Given the description of an element on the screen output the (x, y) to click on. 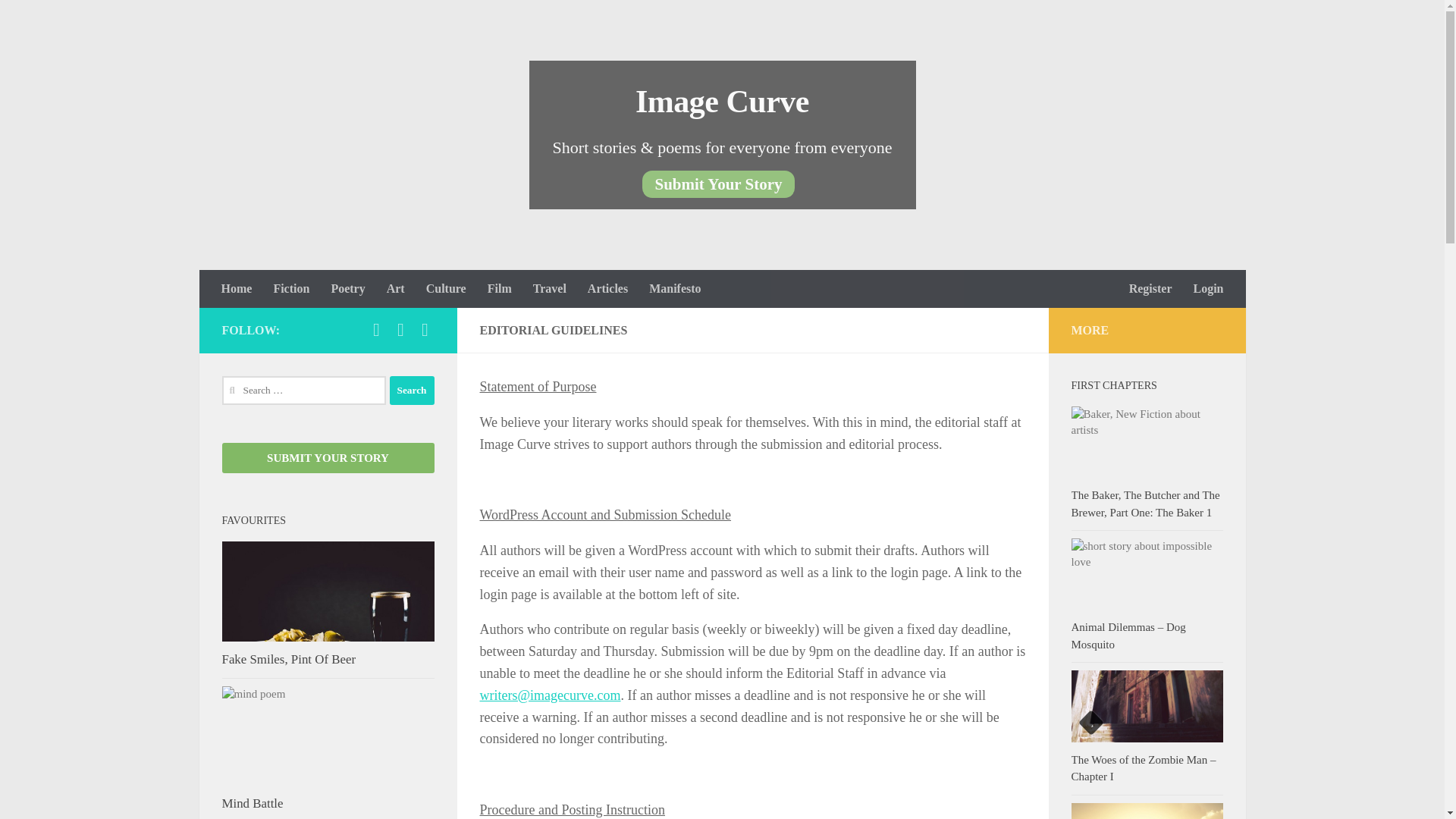
Fiction (291, 288)
Register (1150, 288)
Film (499, 288)
Skip to content (59, 20)
Login (1207, 288)
Articles (607, 288)
Submit Your Story (717, 184)
Poetry (347, 288)
Image Curve (722, 102)
Facebook (375, 330)
